Given the description of an element on the screen output the (x, y) to click on. 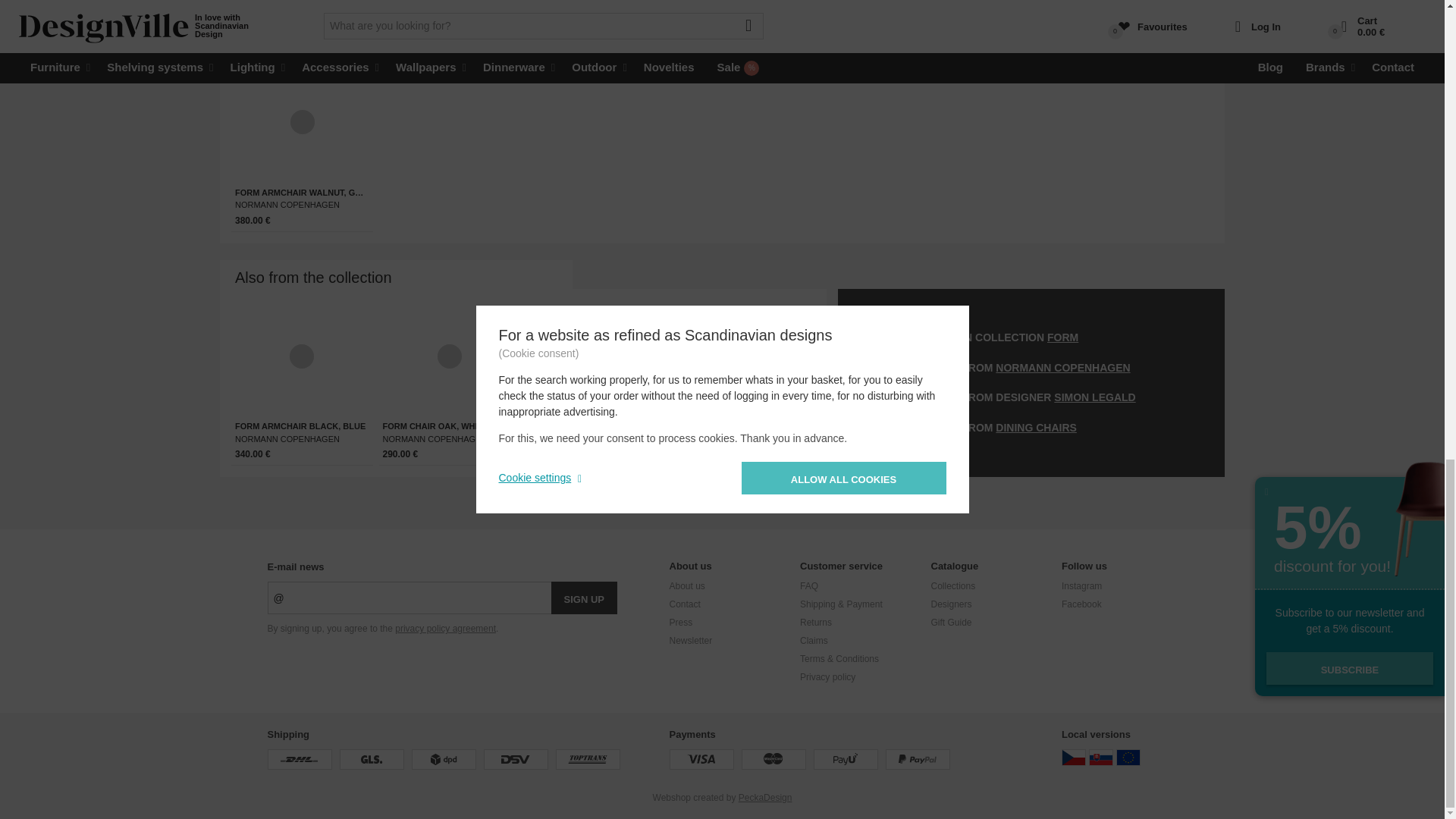
DesignVille.cz (1073, 757)
DesignVille.sk (1101, 757)
DesignVille.eu (1128, 757)
